Given the description of an element on the screen output the (x, y) to click on. 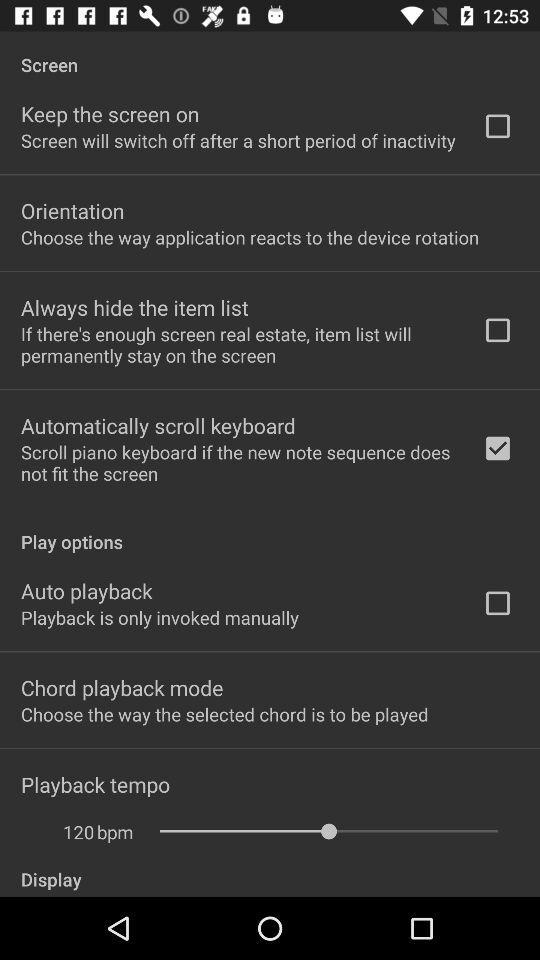
turn off the bpm icon (115, 831)
